Given the description of an element on the screen output the (x, y) to click on. 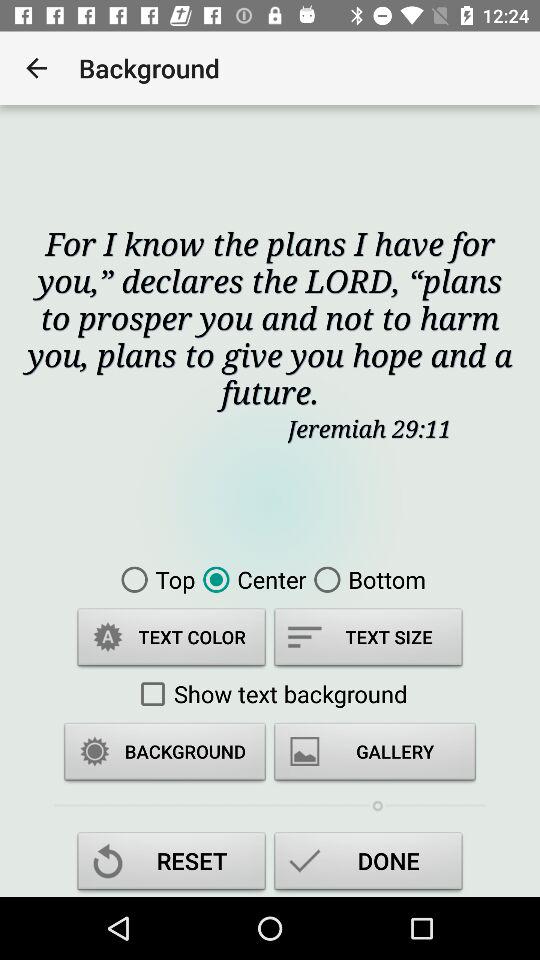
turn off item below the for i know (154, 579)
